Given the description of an element on the screen output the (x, y) to click on. 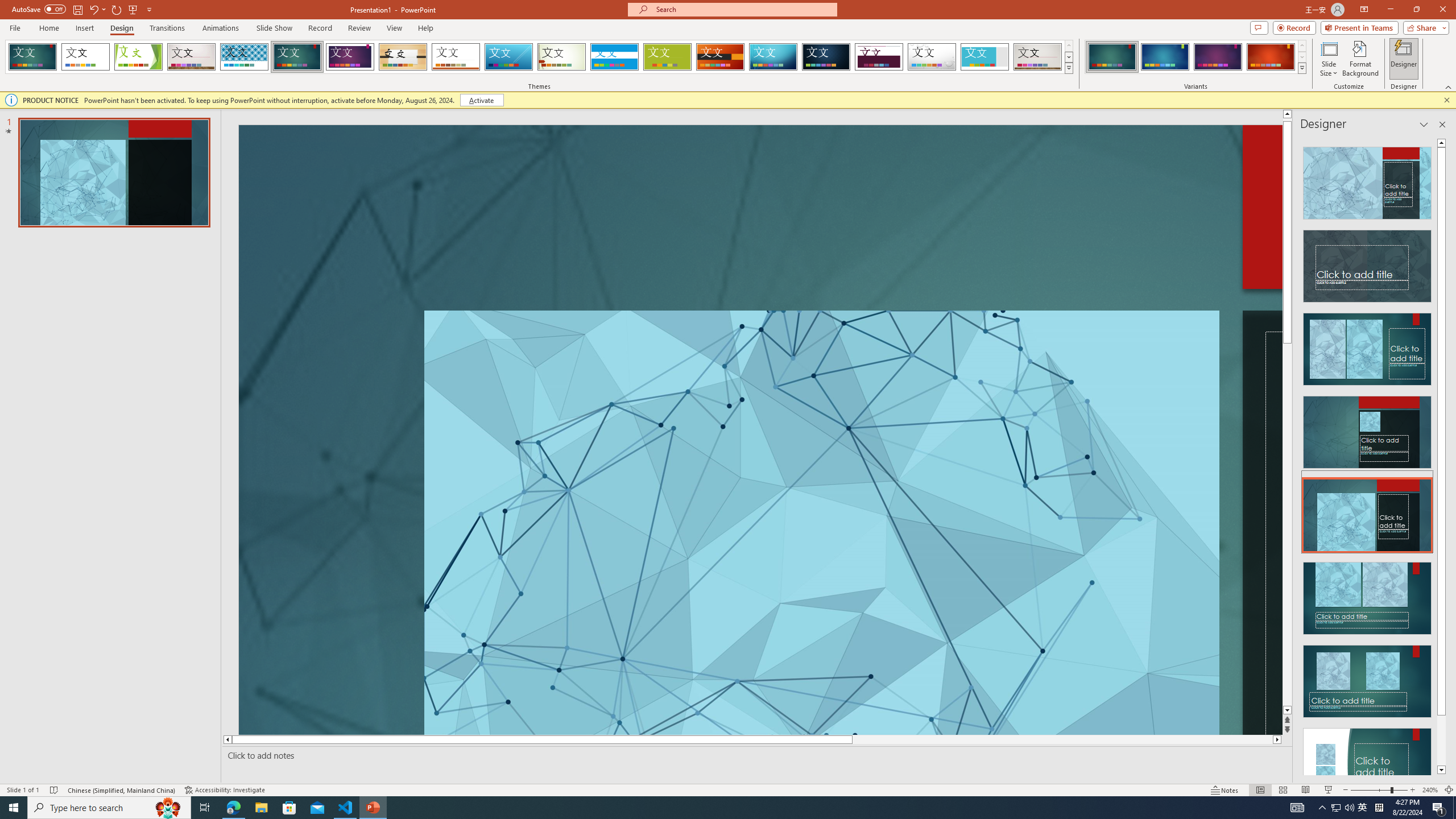
An abstract genetic concept (1197, 429)
Ion Boardroom (350, 56)
